Given the description of an element on the screen output the (x, y) to click on. 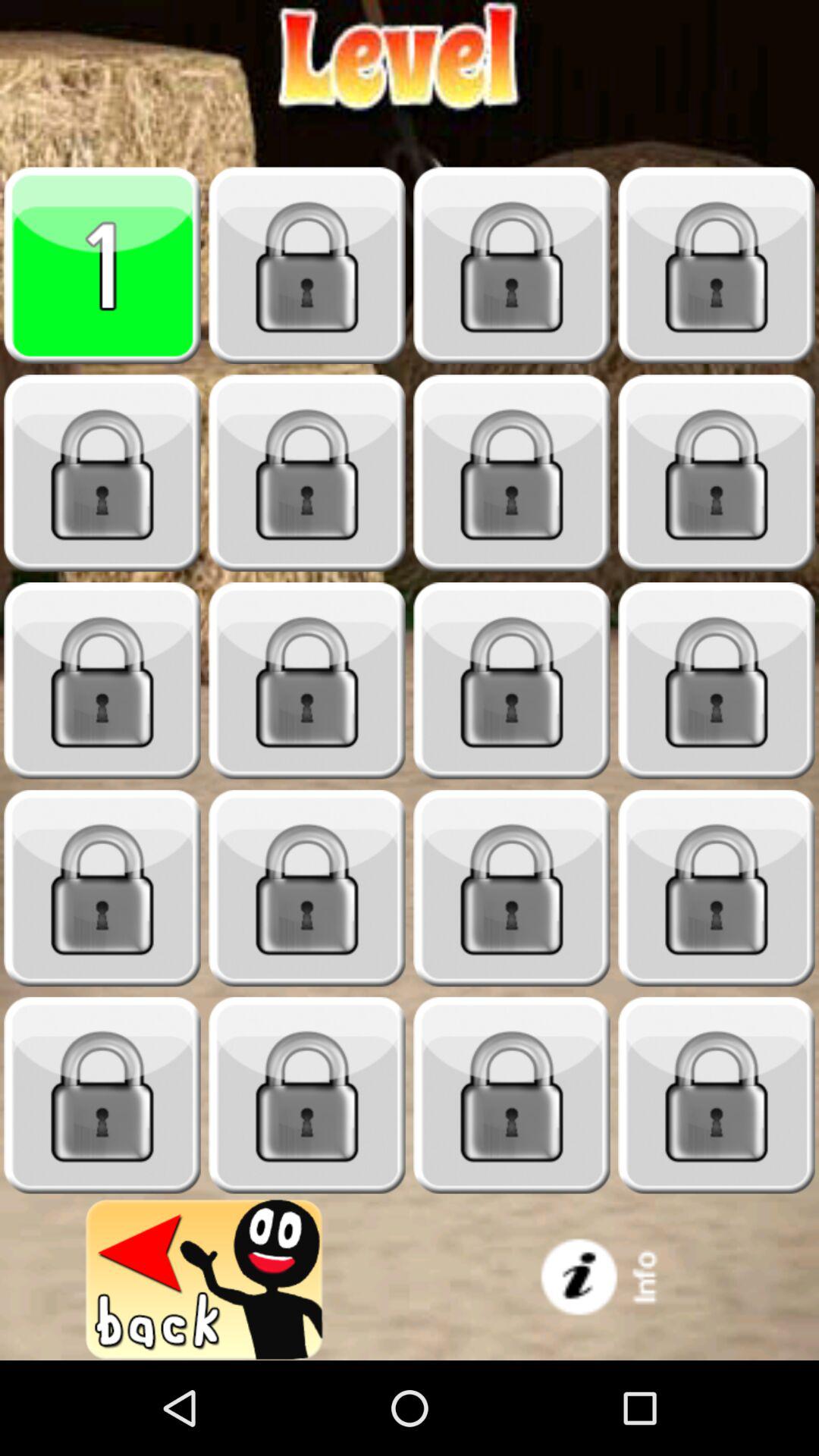
level of game (102, 473)
